Given the description of an element on the screen output the (x, y) to click on. 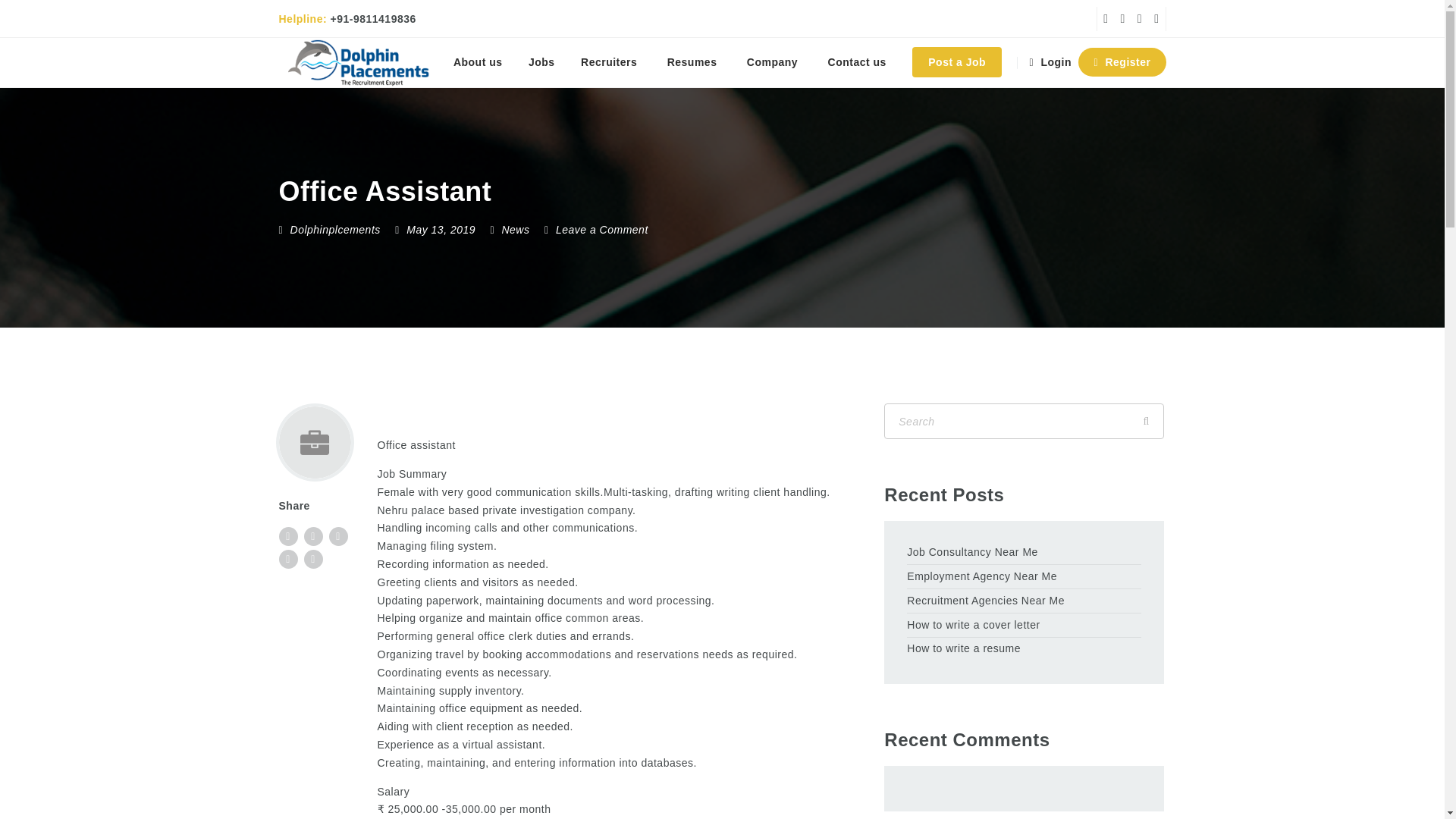
Search (1145, 420)
Emerging India's Latest FREE Job site (359, 61)
About us (477, 61)
Leave a Comment (595, 229)
 Login (1052, 61)
How to write a cover letter (1024, 625)
News (514, 229)
Recruiters (610, 61)
Employment Agency Near Me (1024, 577)
Posts by Dolphinplcements (334, 229)
